Given the description of an element on the screen output the (x, y) to click on. 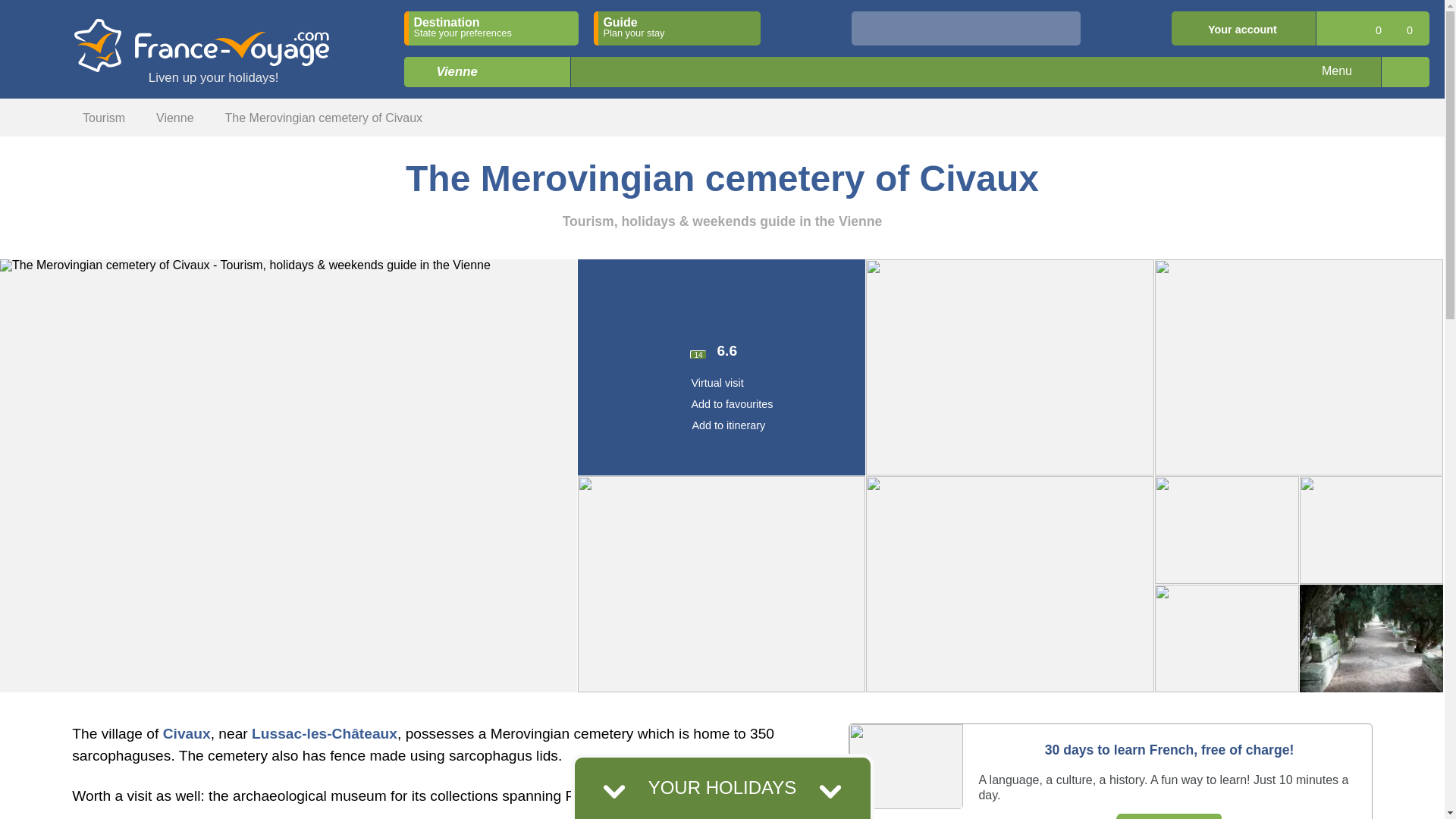
Home (39, 115)
Classification: Discovery (720, 315)
Open detailed area map (1404, 71)
Vienne (452, 79)
